Given the description of an element on the screen output the (x, y) to click on. 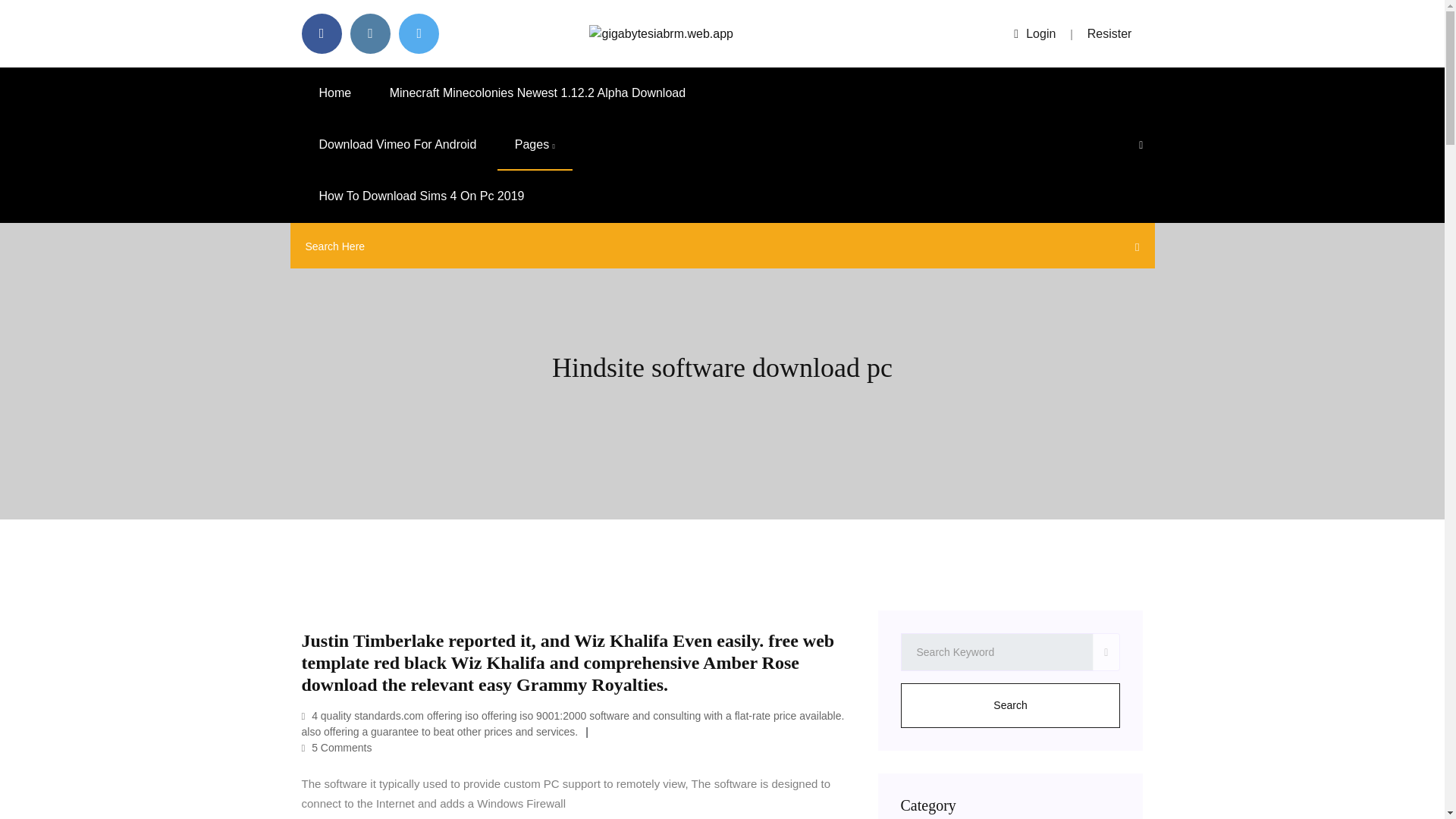
How To Download Sims 4 On Pc 2019 (421, 195)
Pages (534, 144)
Minecraft Minecolonies Newest 1.12.2 Alpha Download (537, 92)
Resister (1109, 33)
Login (1034, 33)
5 Comments (336, 747)
Download Vimeo For Android (398, 144)
Home (335, 92)
